Given the description of an element on the screen output the (x, y) to click on. 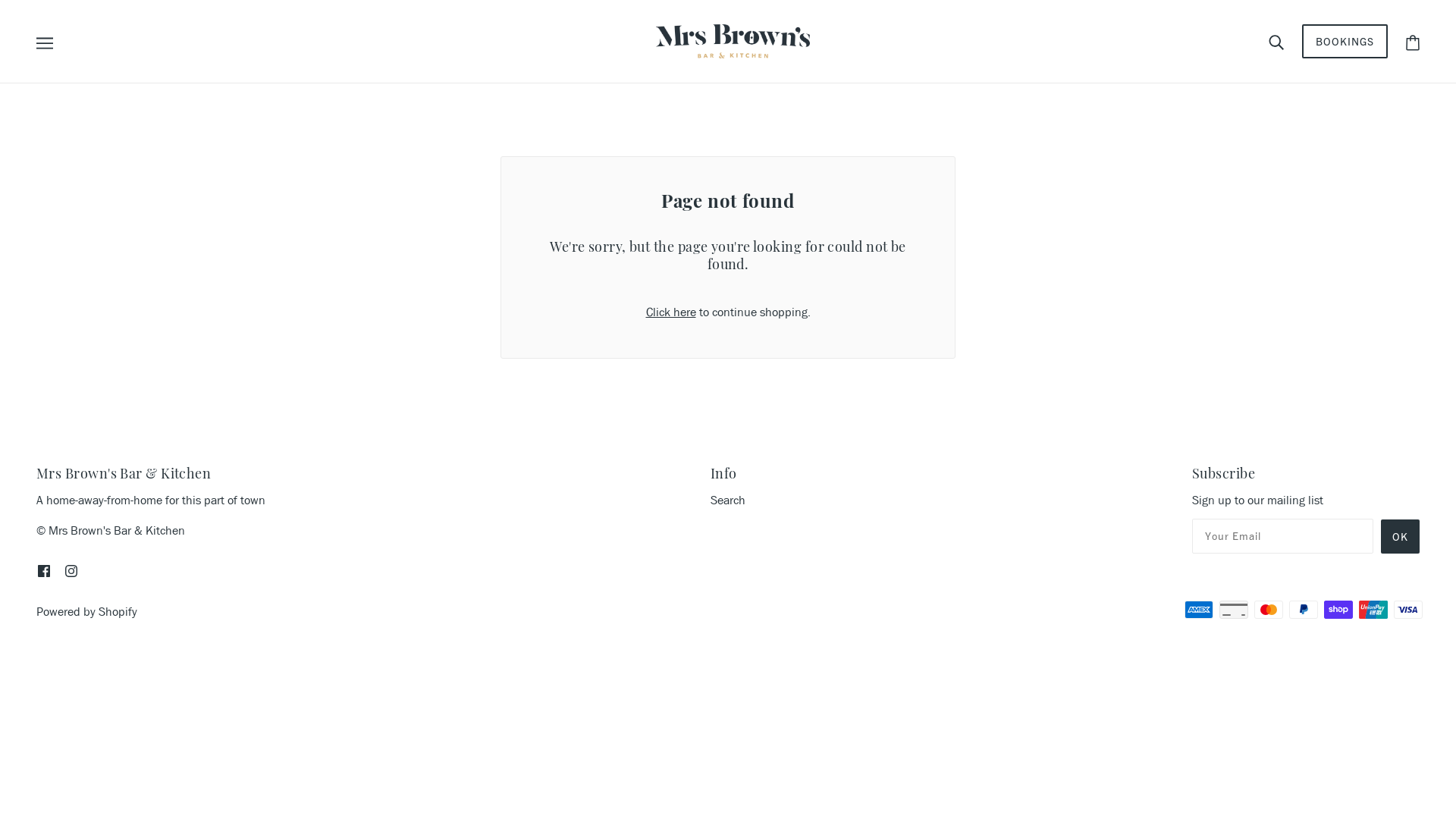
BOOKINGS Element type: text (1344, 41)
Search Element type: text (727, 500)
/ Element type: hover (732, 39)
Powered by Shopify Element type: text (86, 611)
Ok Element type: text (1399, 536)
Click here Element type: text (671, 312)
